Given the description of an element on the screen output the (x, y) to click on. 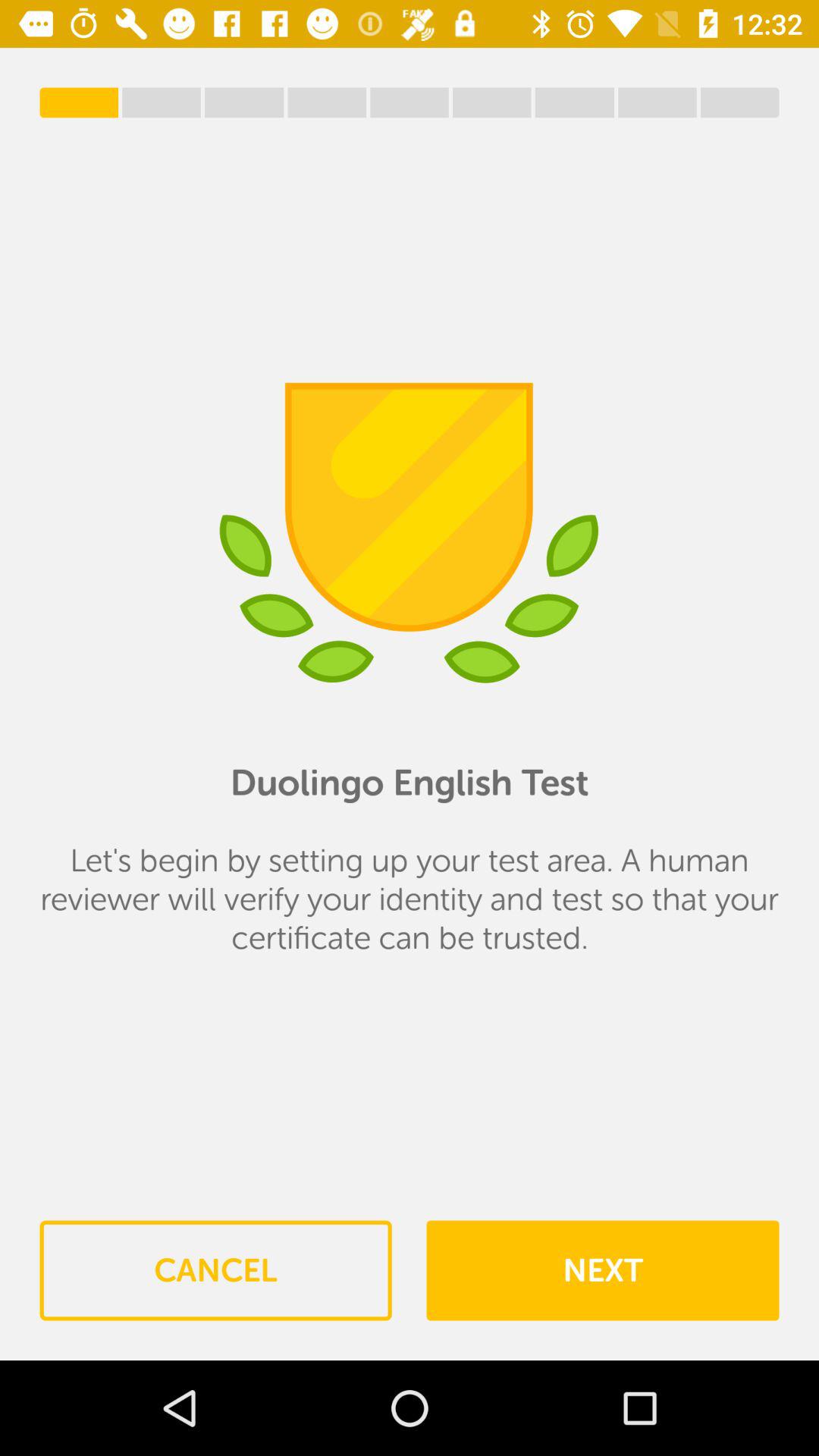
select the icon below let s begin (602, 1270)
